Given the description of an element on the screen output the (x, y) to click on. 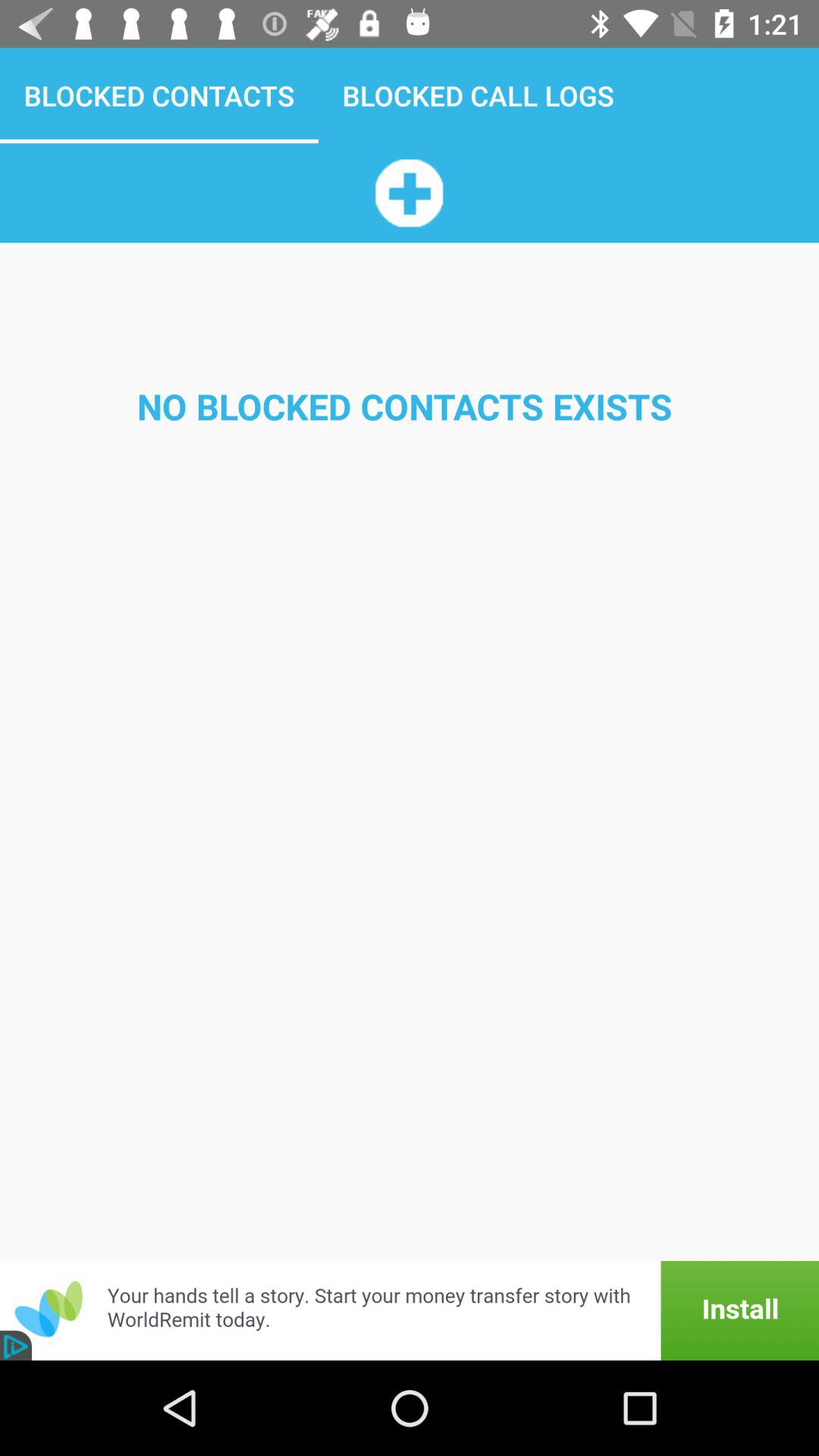
select the app above the no blocked contacts app (409, 193)
